Given the description of an element on the screen output the (x, y) to click on. 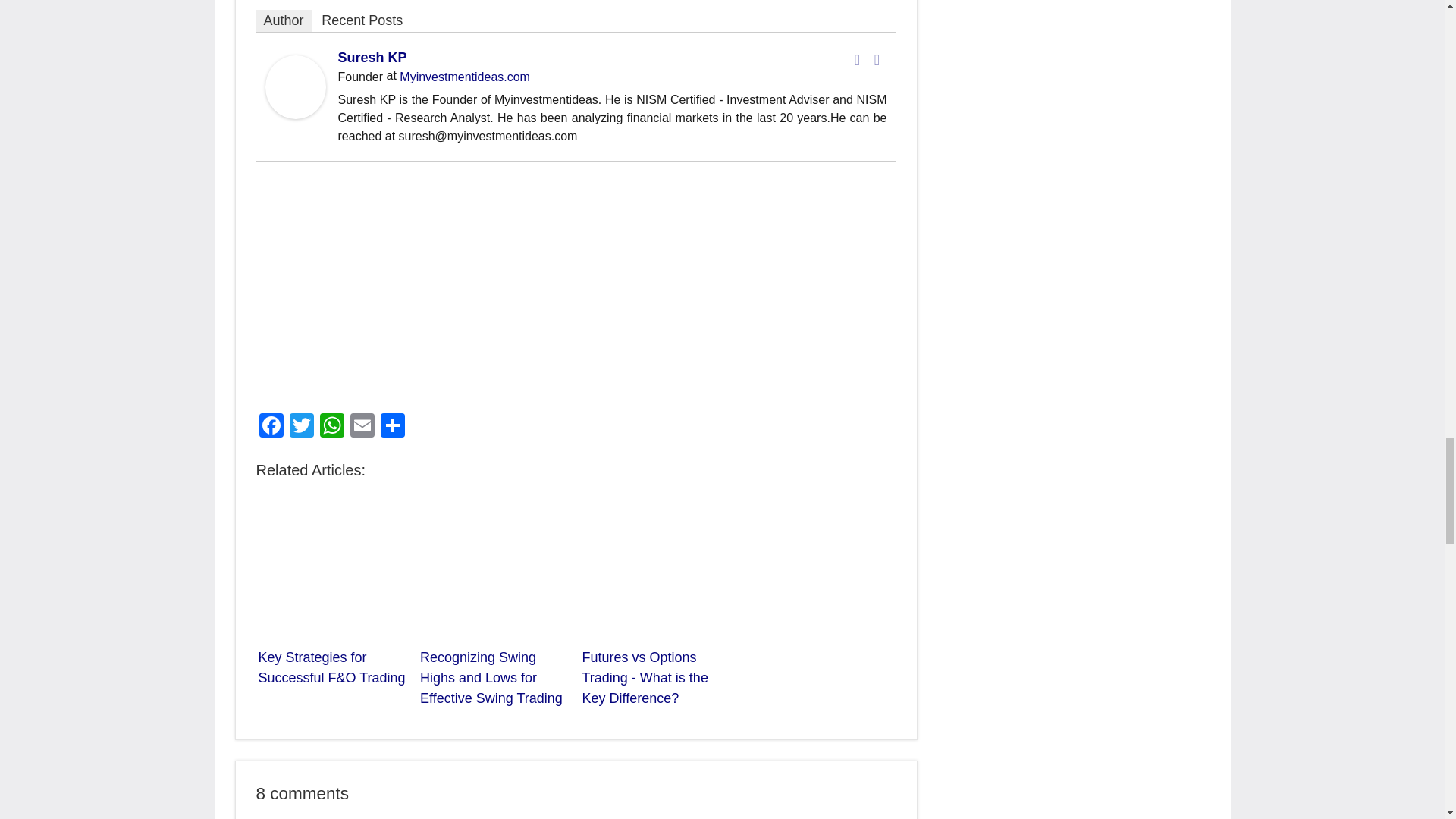
Twitter (876, 59)
Facebook (856, 59)
Suresh KP (372, 57)
Recent Posts (362, 20)
Suresh KP (295, 114)
Author (283, 20)
Myinvestmentideas.com (463, 76)
